Given the description of an element on the screen output the (x, y) to click on. 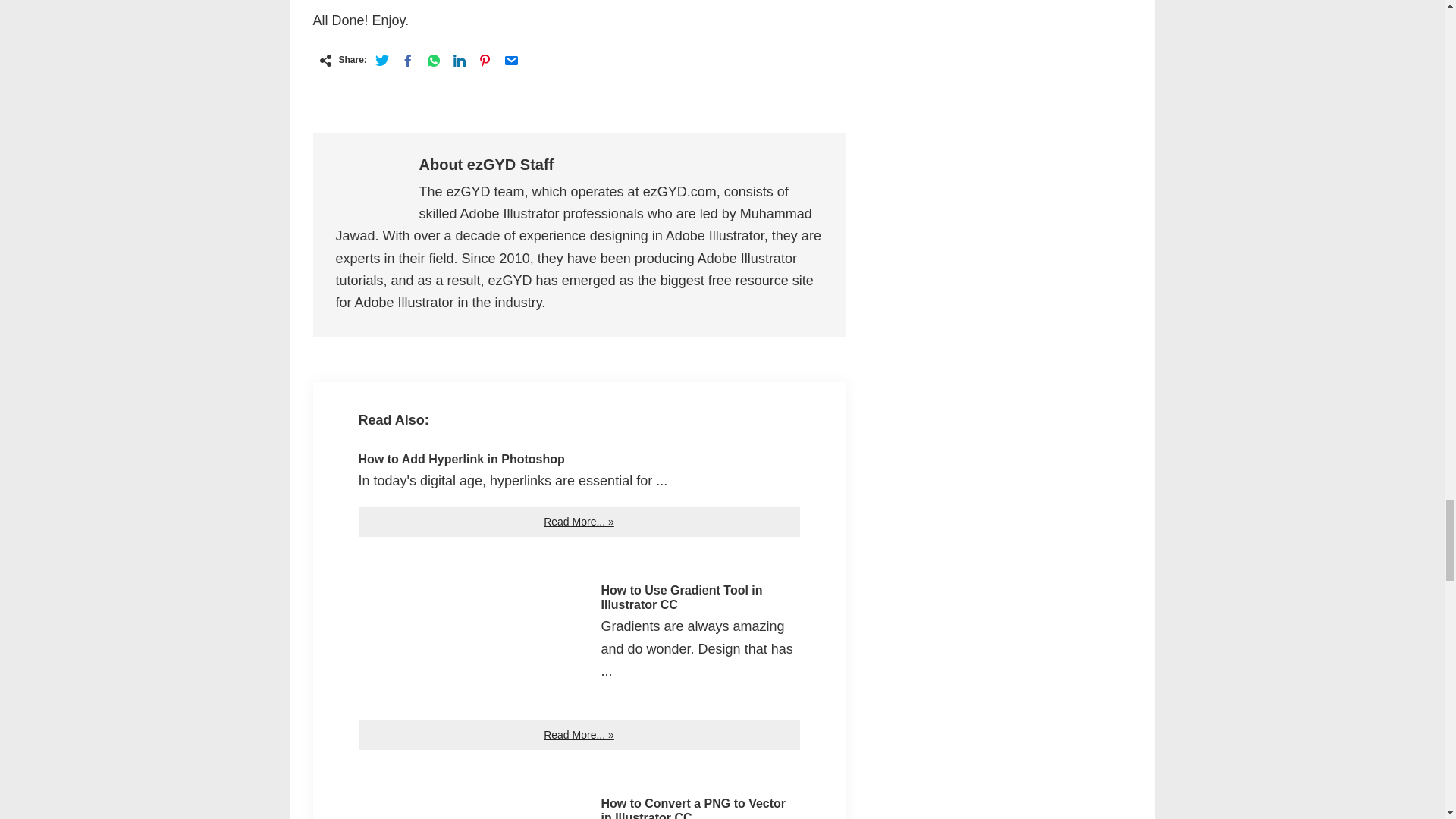
Share by Email (510, 60)
